Given the description of an element on the screen output the (x, y) to click on. 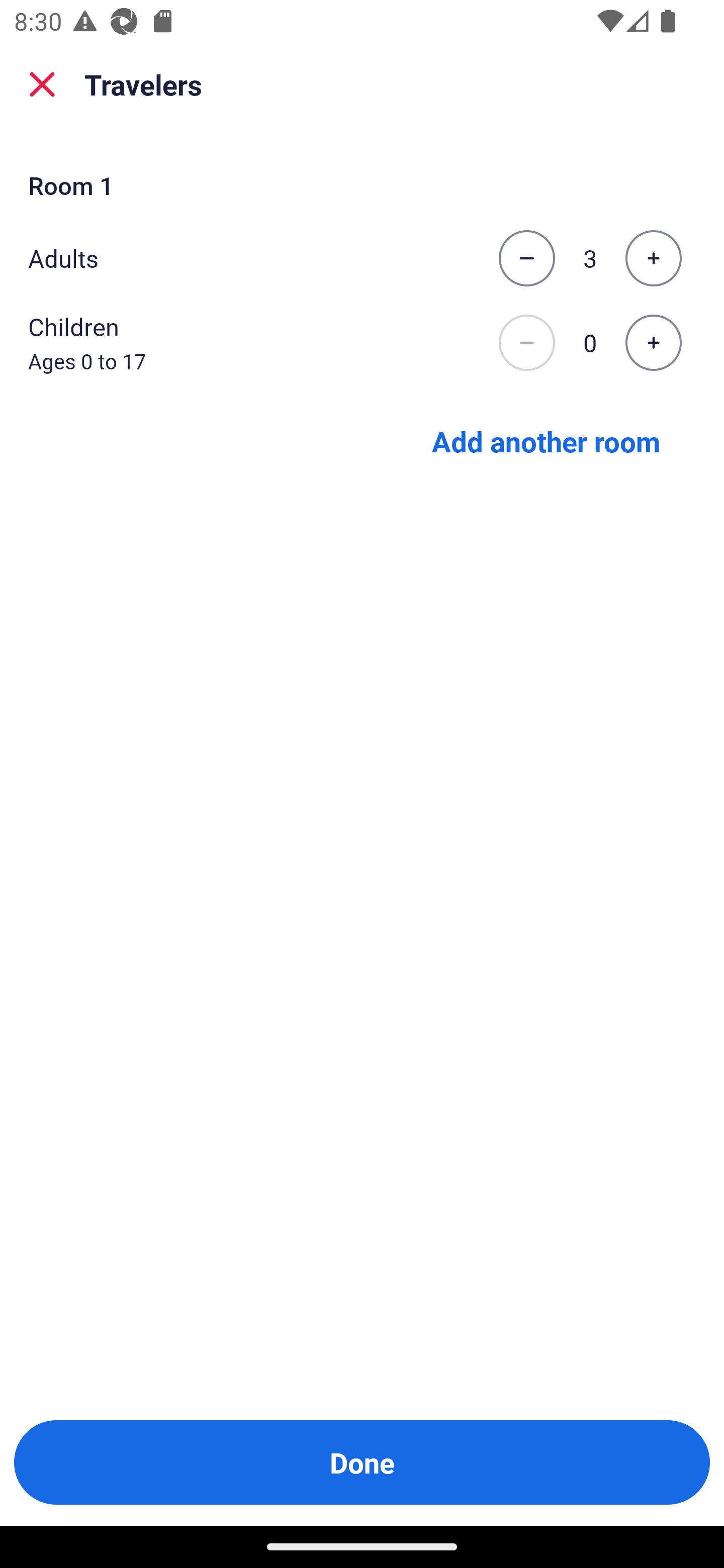
close (42, 84)
Decrease the number of adults (526, 258)
Increase the number of adults (653, 258)
Decrease the number of children (526, 343)
Increase the number of children (653, 343)
Add another room (545, 440)
Done (361, 1462)
